Given the description of an element on the screen output the (x, y) to click on. 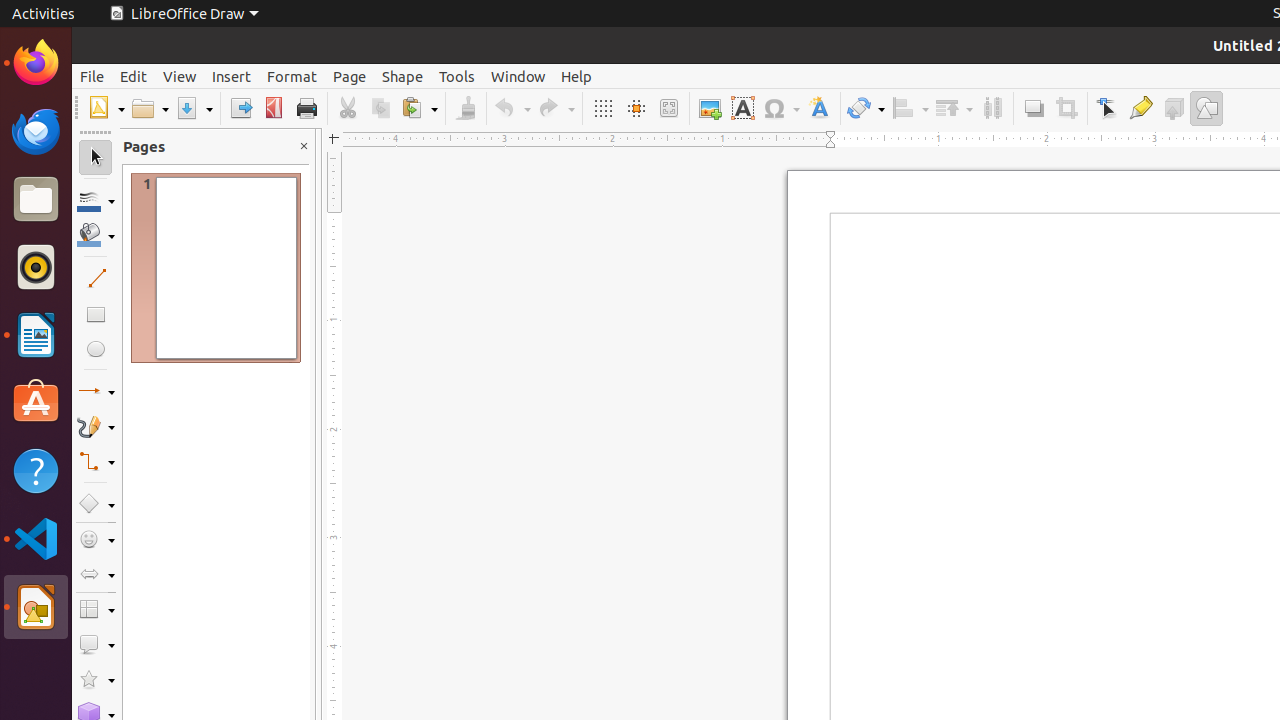
Help Element type: push-button (36, 470)
Ellipse Element type: push-button (95, 348)
Cut Element type: push-button (347, 108)
Undo Element type: push-button (512, 108)
